Given the description of an element on the screen output the (x, y) to click on. 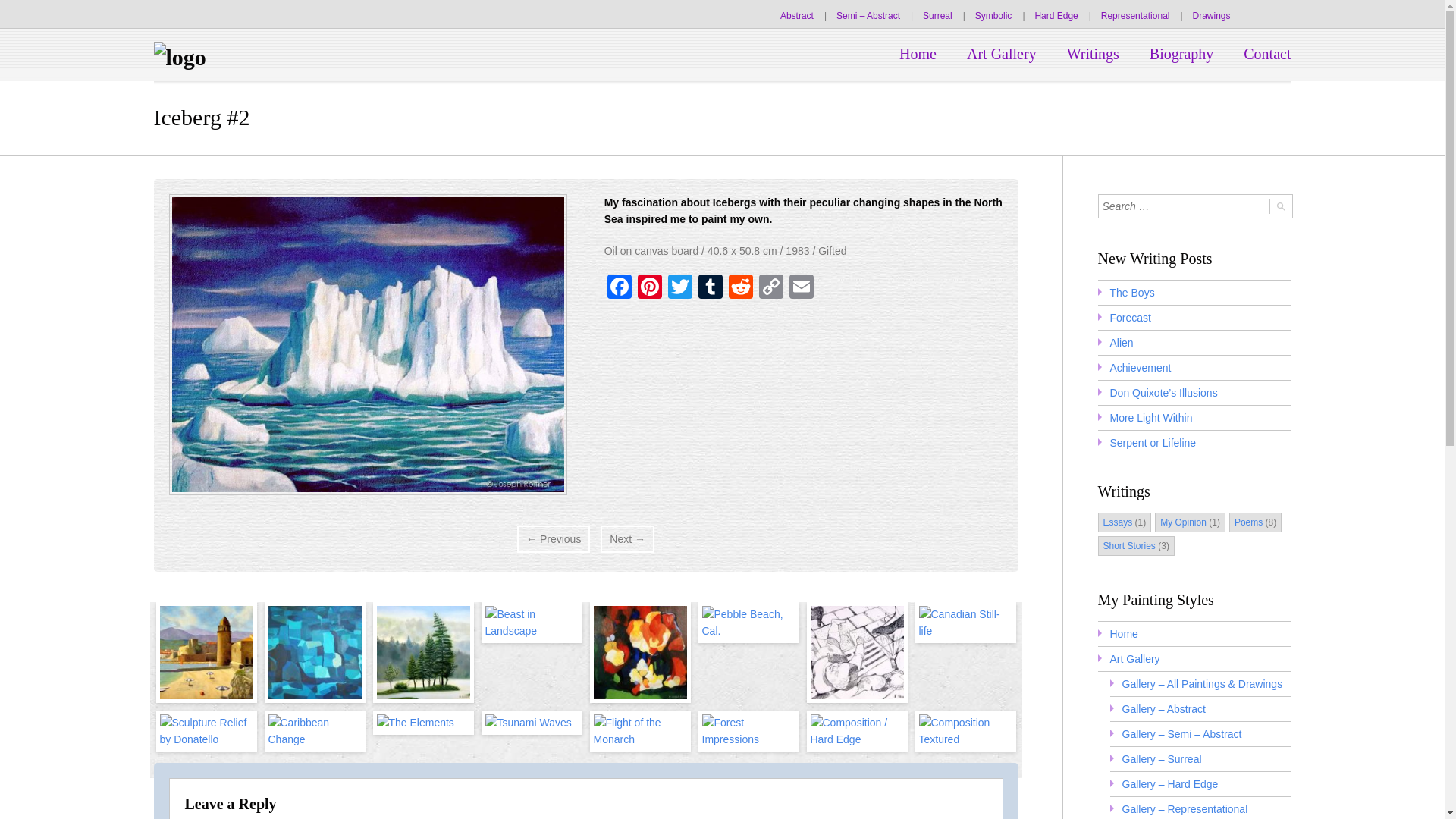
Copy Link (770, 288)
Biography (1181, 54)
Drawings (1211, 15)
Search (1280, 206)
Contact (1259, 54)
Email (801, 288)
Surreal (937, 15)
Pinterest (649, 288)
Reddit (740, 288)
Writings (1092, 54)
